Given the description of an element on the screen output the (x, y) to click on. 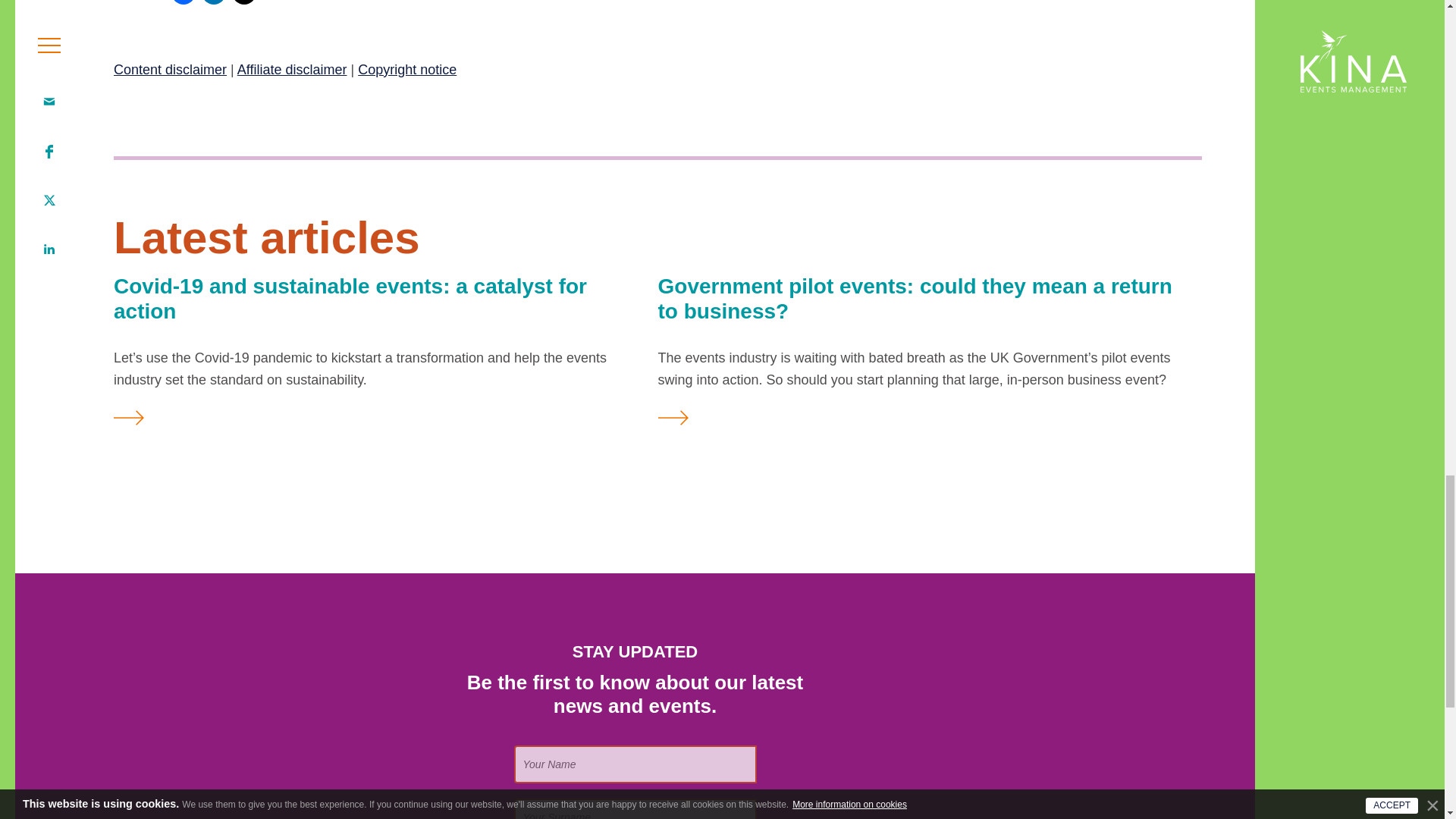
Click to share on LinkedIn (213, 2)
Affiliate disclaimer (292, 69)
Copyright notice (407, 69)
Click to share on Facebook (183, 2)
Content disclaimer (170, 69)
Click to share on X (243, 2)
Covid-19 and sustainable events: a catalyst for action (349, 298)
